Given the description of an element on the screen output the (x, y) to click on. 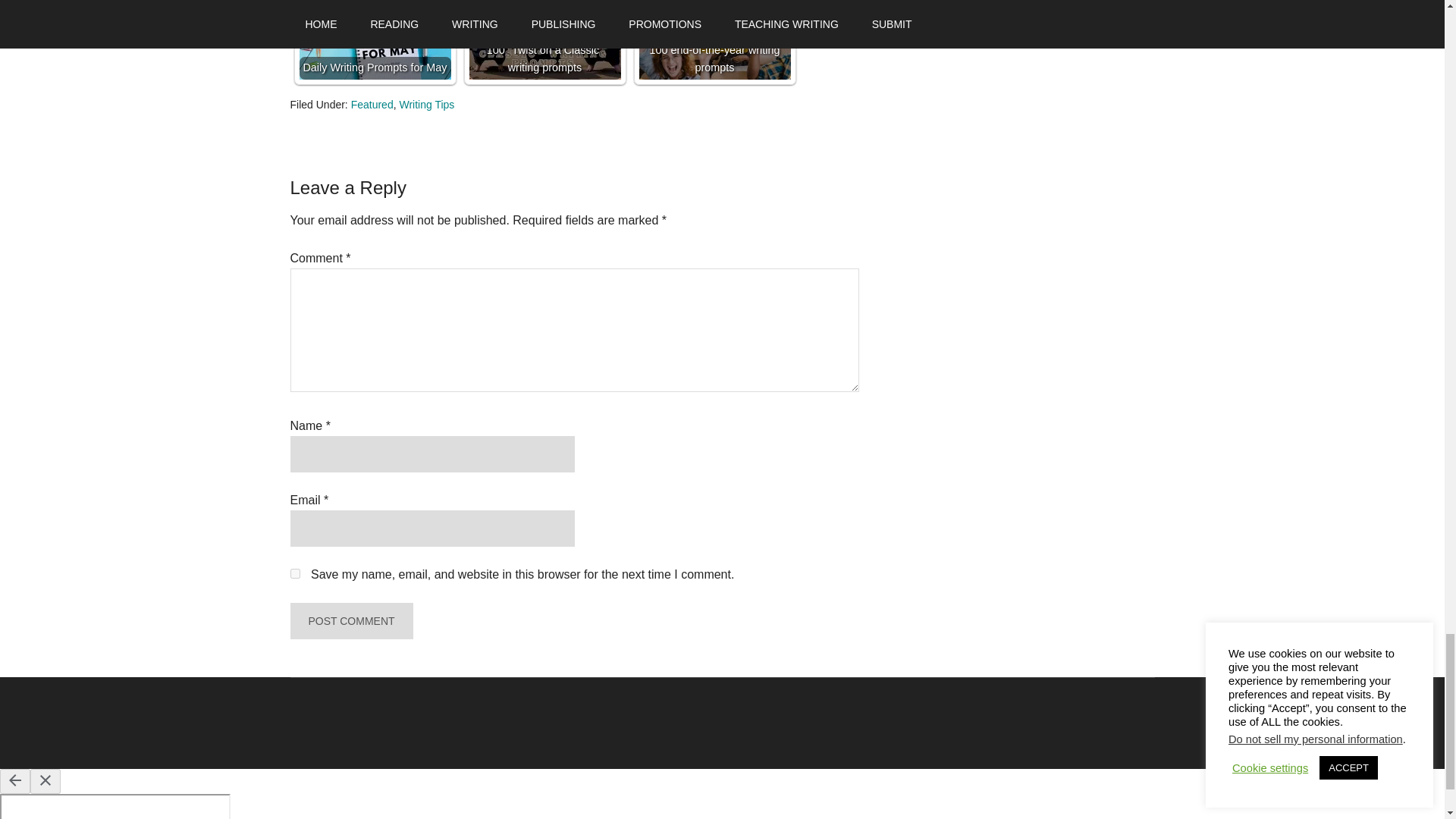
Post Comment (350, 620)
100 "Twist on a Classic" writing prompts (544, 39)
Daily Writing Prompts for May (373, 39)
yes (294, 573)
100 end-of-the-year writing prompts (714, 39)
